Given the description of an element on the screen output the (x, y) to click on. 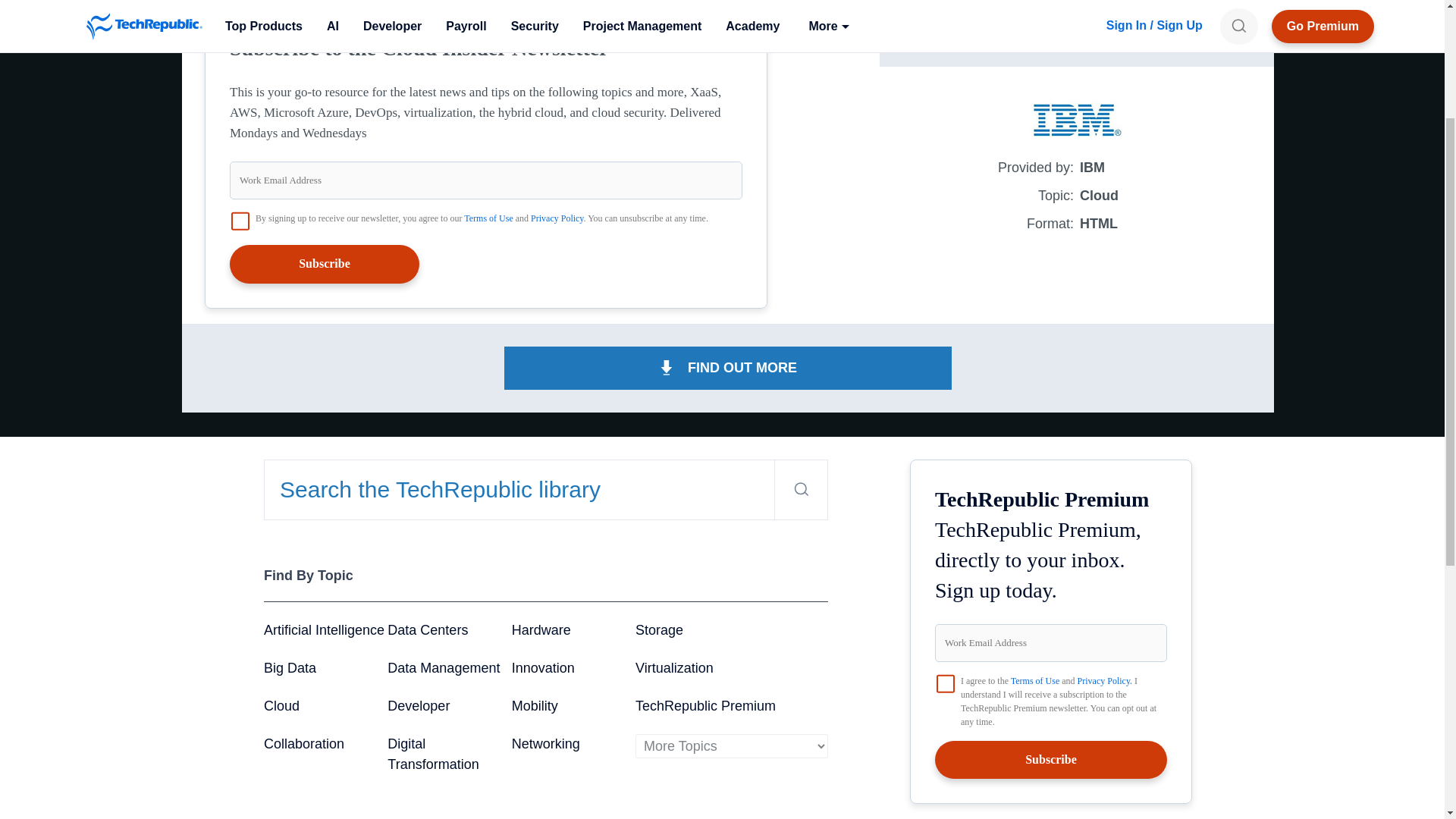
on (239, 221)
Artificial Intelligence (323, 630)
Terms of Use (488, 217)
on (945, 683)
FIND OUT MORE (1077, 29)
FIND OUT MORE (727, 367)
Privacy Policy (557, 217)
Subscribe (324, 263)
